Given the description of an element on the screen output the (x, y) to click on. 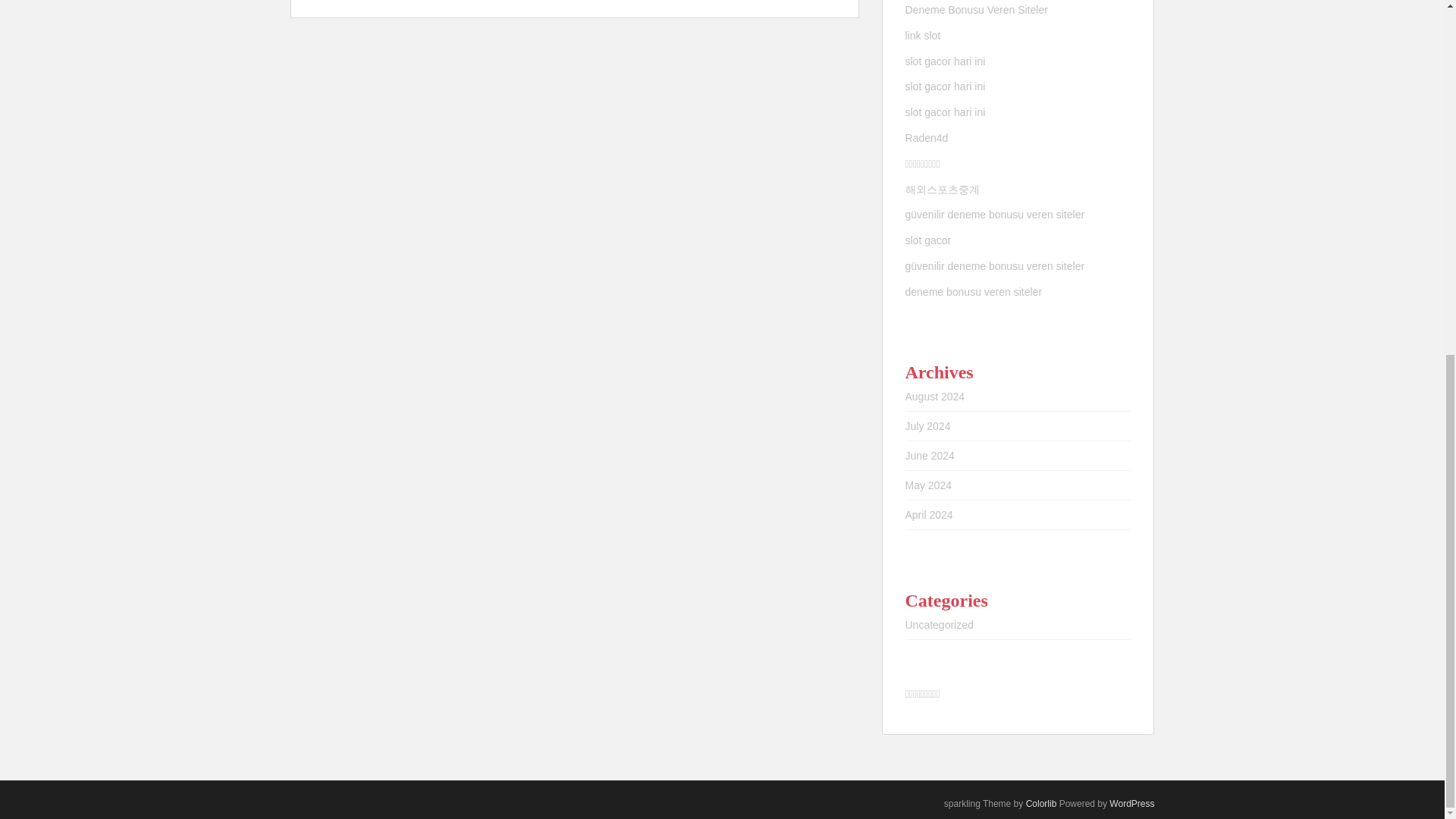
June 2024 (930, 455)
May 2024 (928, 485)
Raden4d (927, 137)
April 2024 (929, 514)
July 2024 (927, 426)
Deneme Bonusu Veren Siteler (976, 9)
slot gacor hari ini (945, 61)
Uncategorized (939, 624)
slot gacor hari ini  (946, 111)
link slot (922, 35)
